Given the description of an element on the screen output the (x, y) to click on. 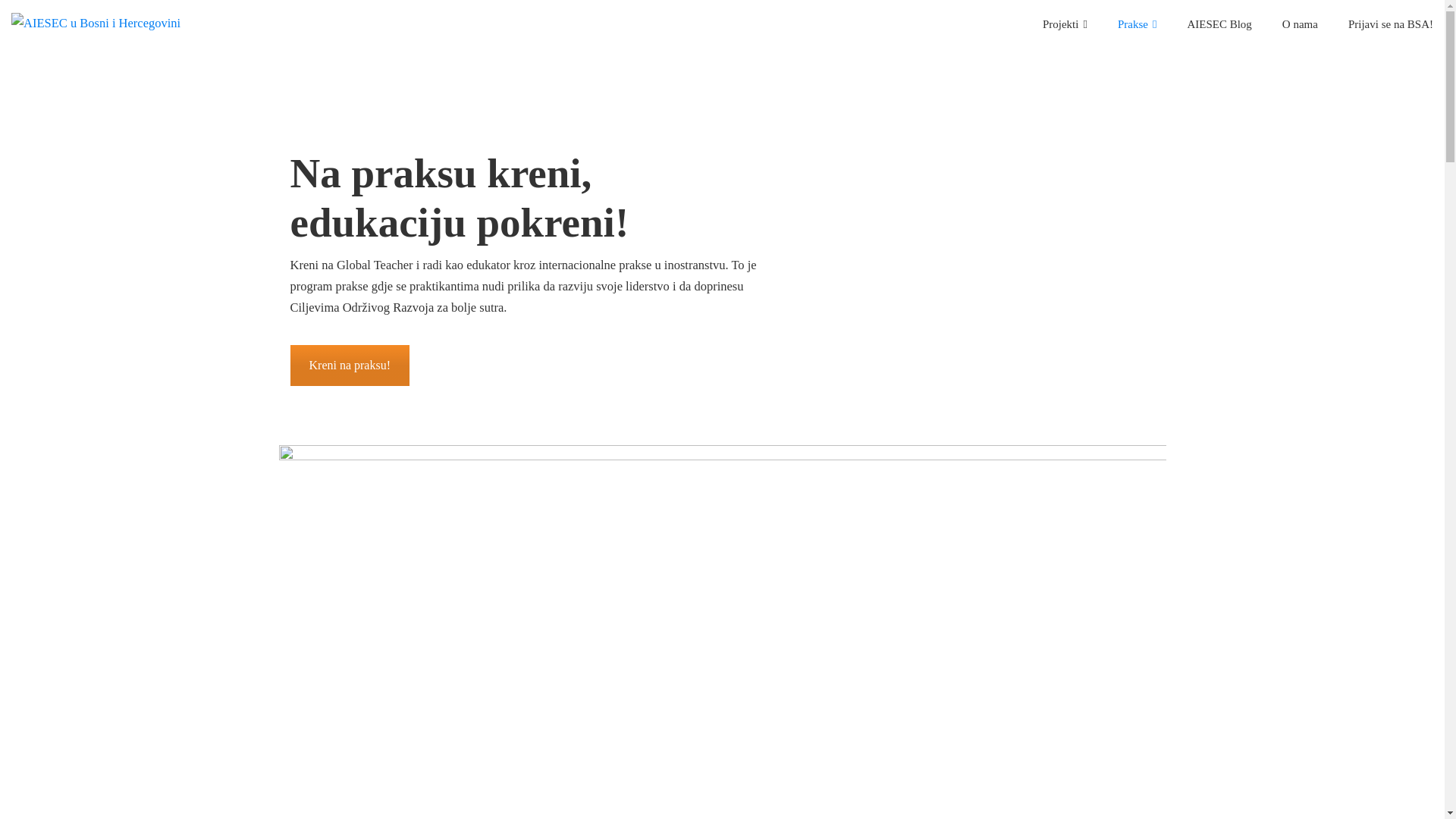
AIESEC Blog Element type: text (1218, 23)
O nama Element type: text (1299, 23)
Prakse Element type: text (1136, 23)
Kreni na praksu! Element type: text (349, 365)
Prijavi se na BSA! Element type: text (1390, 23)
Projekti Element type: text (1064, 23)
